Given the description of an element on the screen output the (x, y) to click on. 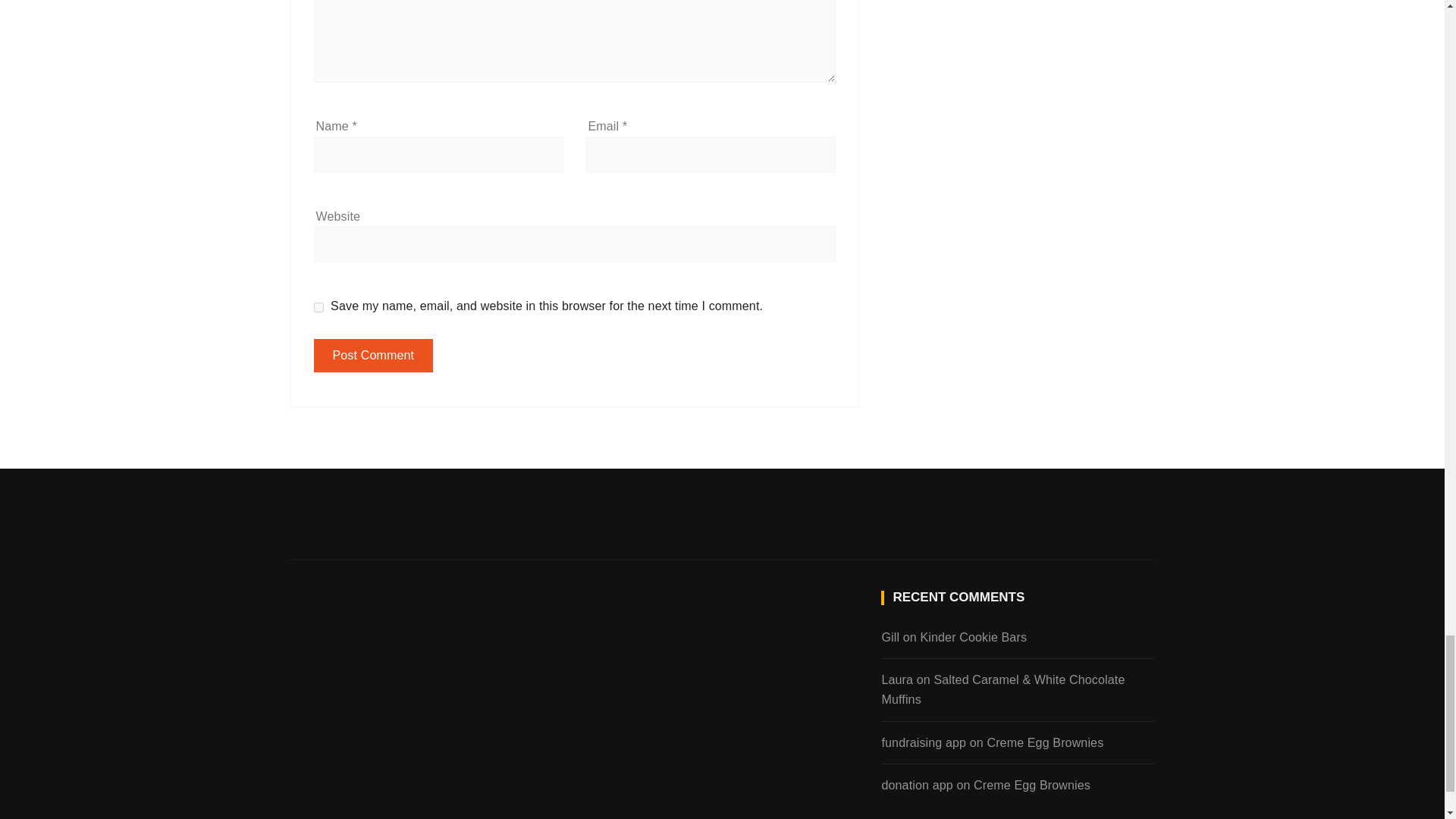
Post Comment (373, 355)
yes (318, 307)
